Given the description of an element on the screen output the (x, y) to click on. 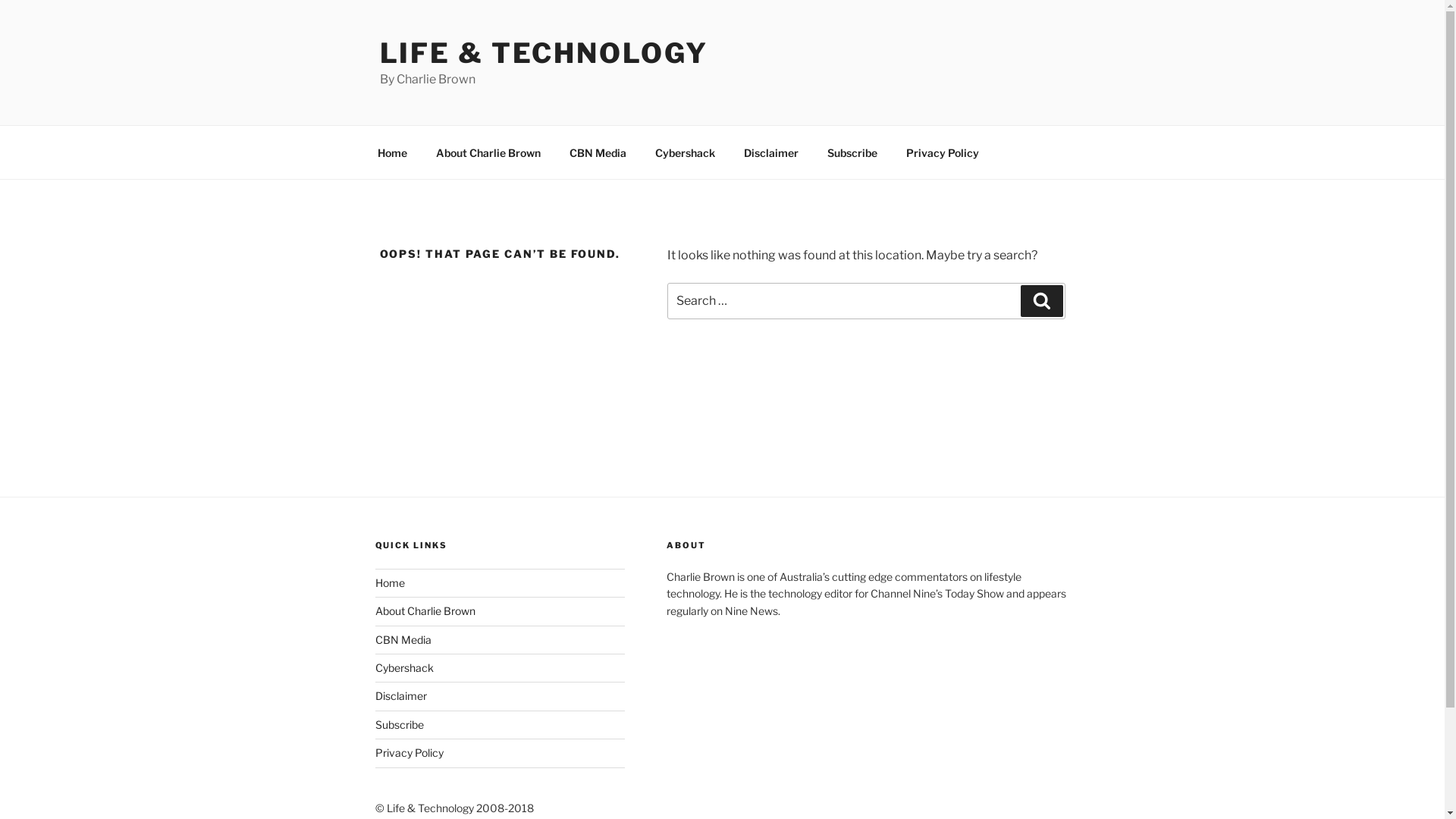
Disclaimer Element type: text (771, 151)
Privacy Policy Element type: text (408, 752)
Subscribe Element type: text (398, 724)
Cybershack Element type: text (684, 151)
CBN Media Element type: text (598, 151)
About Charlie Brown Element type: text (424, 610)
Disclaimer Element type: text (400, 695)
About Charlie Brown Element type: text (488, 151)
CBN Media Element type: text (402, 639)
Home Element type: text (389, 582)
Subscribe Element type: text (852, 151)
Search Element type: text (1041, 300)
Cybershack Element type: text (403, 667)
LIFE & TECHNOLOGY Element type: text (543, 52)
Home Element type: text (392, 151)
Privacy Policy Element type: text (942, 151)
